Given the description of an element on the screen output the (x, y) to click on. 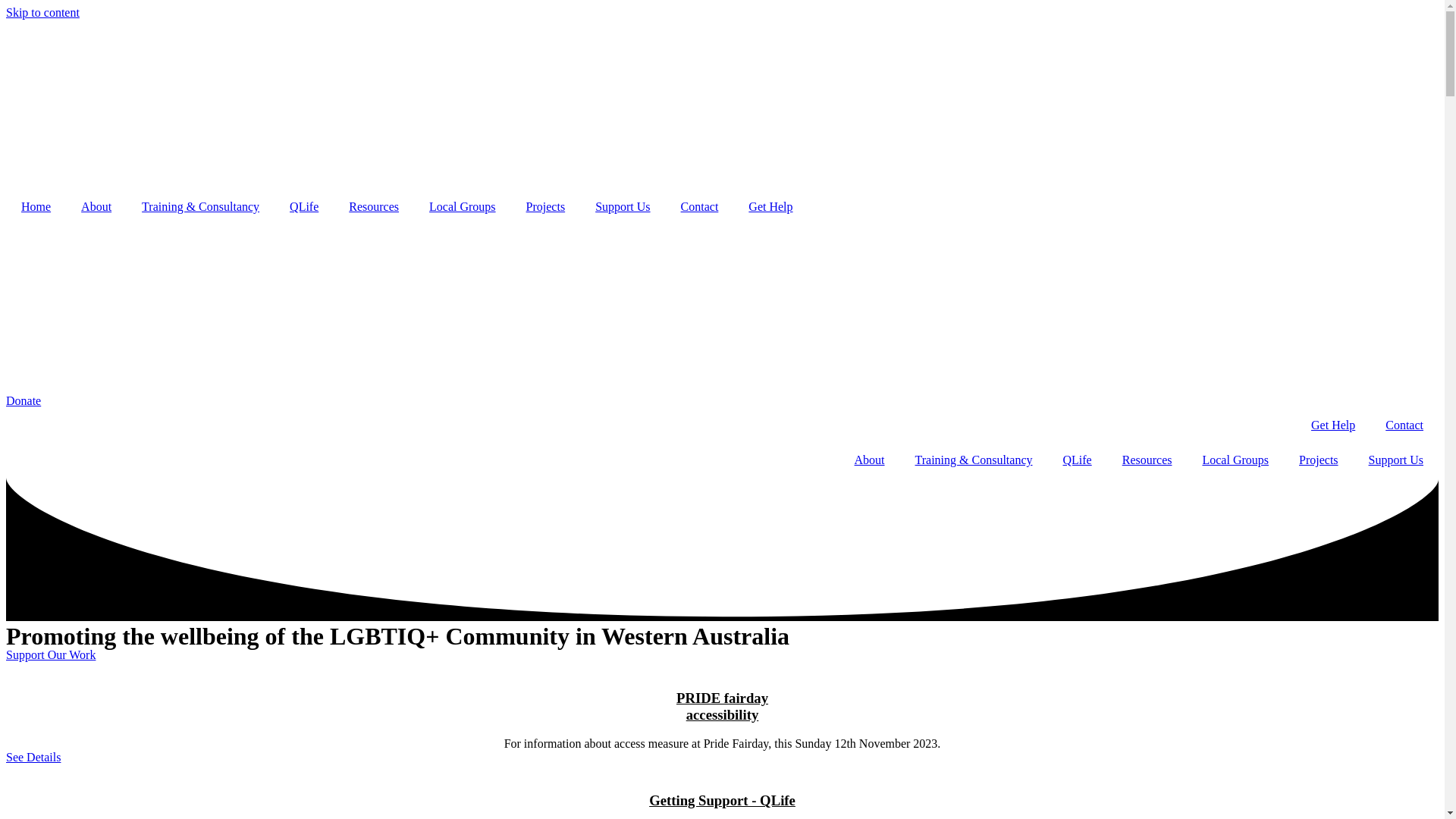
Getting Support - QLife Element type: text (722, 800)
Resources Element type: text (1147, 459)
Home Element type: text (35, 206)
PRIDE fairday
accessibility Element type: text (722, 706)
See Details Element type: text (33, 756)
About Element type: text (95, 206)
QLife Element type: text (303, 206)
Training & Consultancy Element type: text (974, 459)
Projects Element type: text (1318, 459)
QLife Element type: text (1077, 459)
Local Groups Element type: text (1234, 459)
Resources Element type: text (373, 206)
Support Us Element type: text (1395, 459)
Projects Element type: text (545, 206)
Contact Element type: text (699, 206)
Support Our Work Element type: text (50, 654)
Training & Consultancy Element type: text (200, 206)
About Element type: text (869, 459)
Support Us Element type: text (622, 206)
Get Help Element type: text (770, 206)
Skip to content Element type: text (42, 12)
Get Help Element type: text (1332, 424)
Donate Element type: text (23, 400)
Contact Element type: text (1404, 424)
Local Groups Element type: text (462, 206)
